Given the description of an element on the screen output the (x, y) to click on. 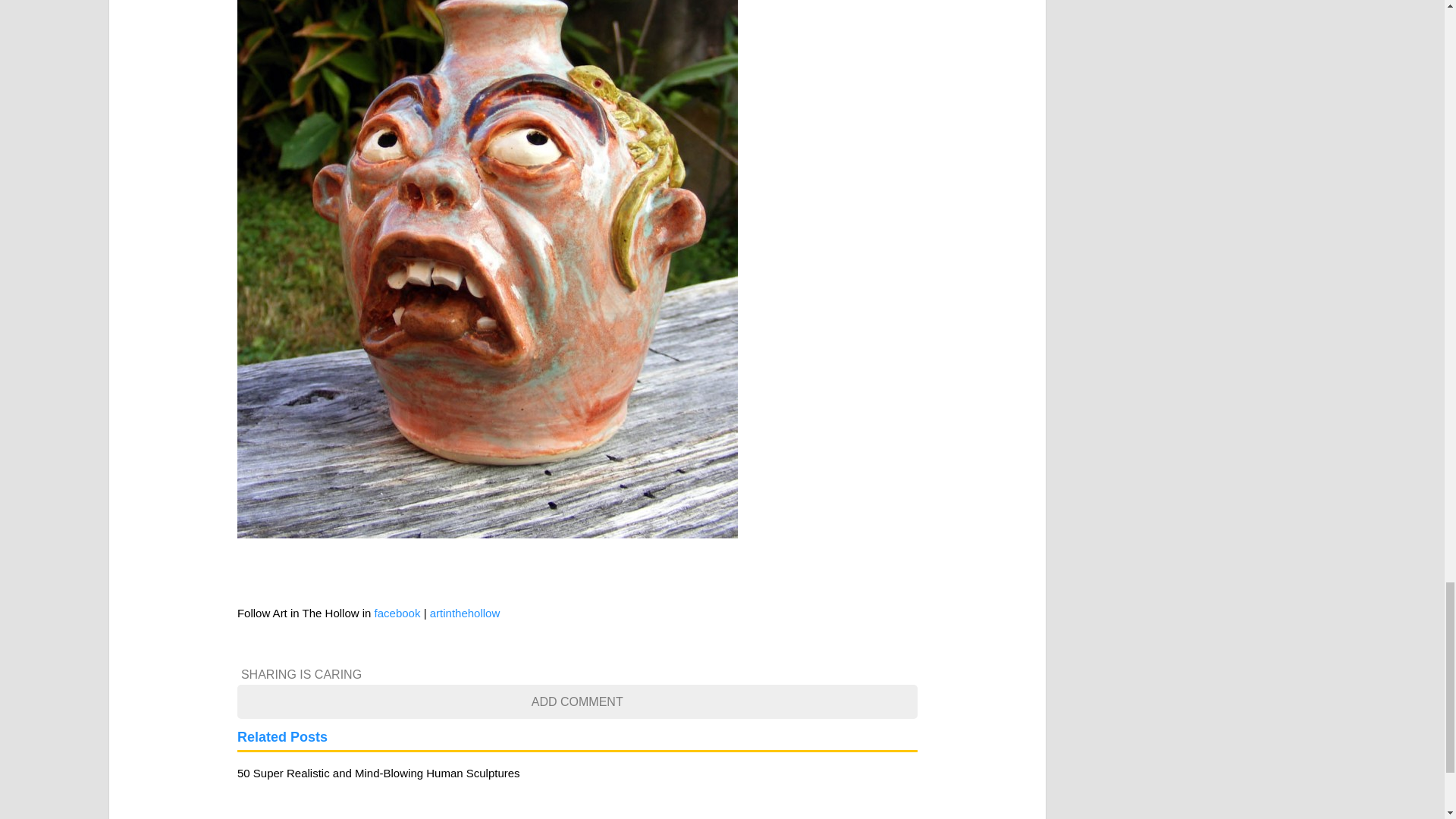
artinthehollow (464, 612)
facebook (397, 612)
